Given the description of an element on the screen output the (x, y) to click on. 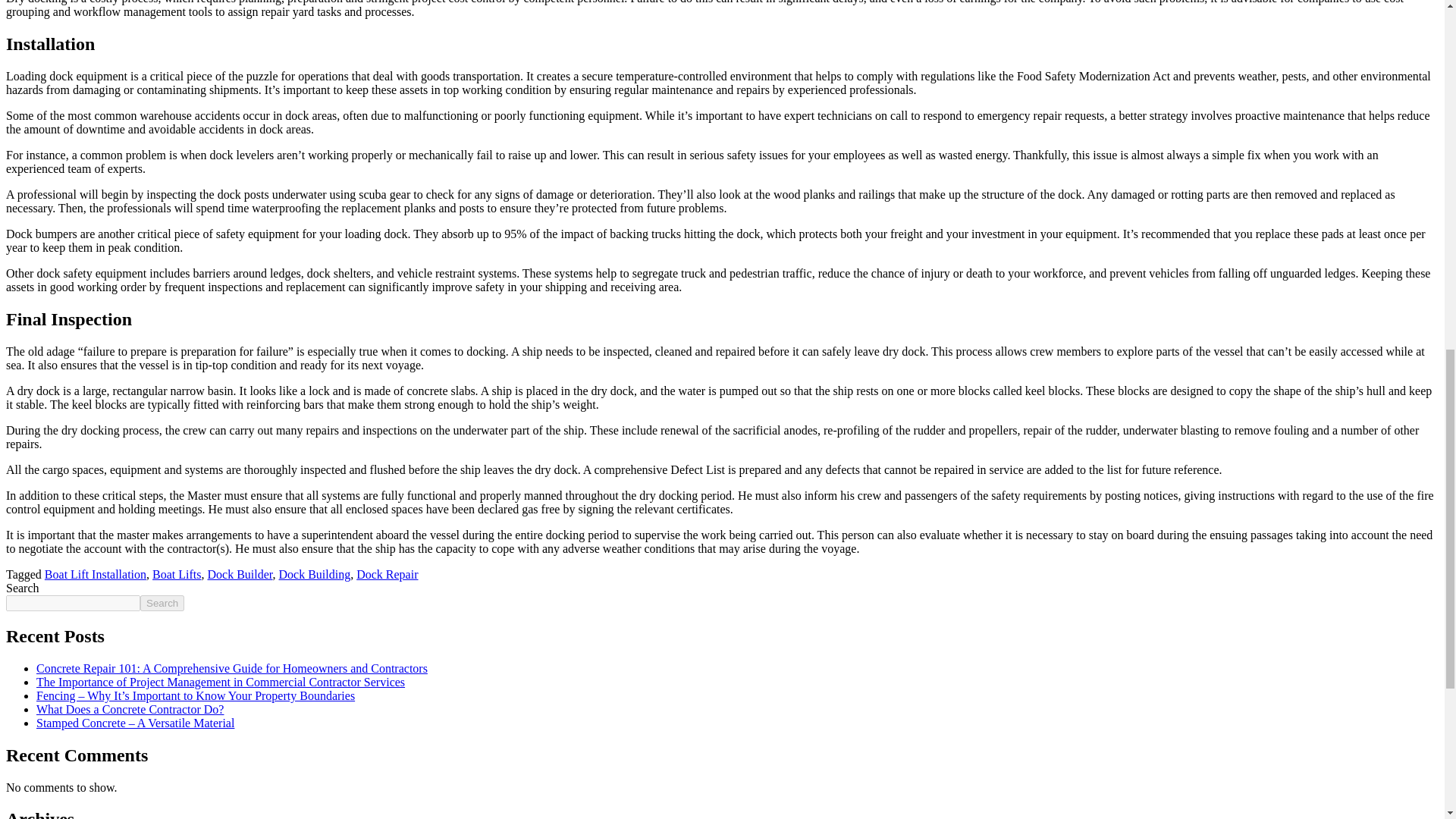
Dock Builder (240, 574)
What Does a Concrete Contractor Do? (130, 708)
Dock Repair (386, 574)
Boat Lift Installation (96, 574)
Boat Lifts (176, 574)
Dock Building (314, 574)
Search (161, 602)
